Given the description of an element on the screen output the (x, y) to click on. 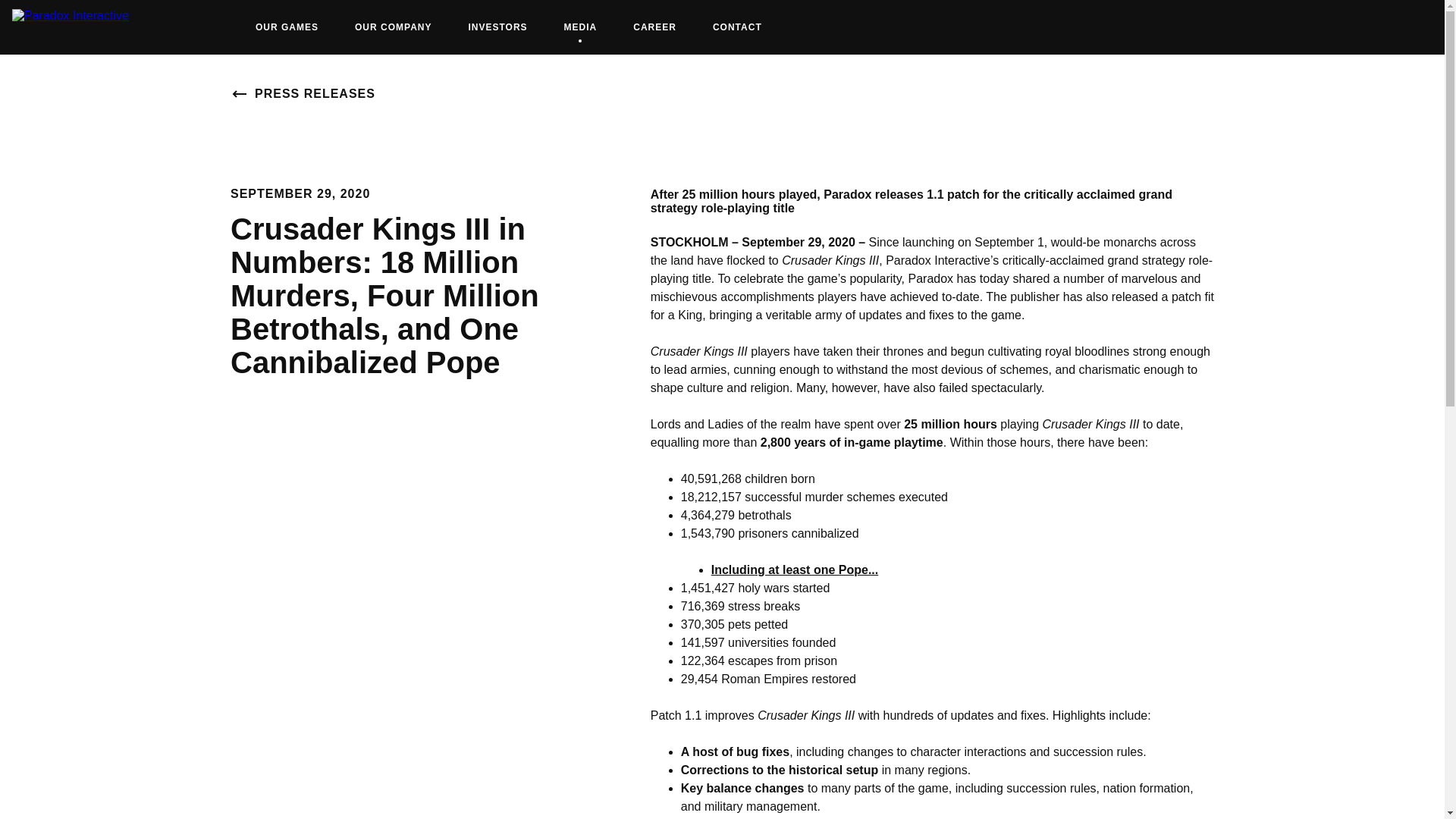
OUR COMPANY (392, 27)
OUR GAMES (580, 27)
CONTACT (286, 27)
CAREER (737, 27)
Including at least one Pope... (654, 27)
INVESTORS (794, 569)
PRESS RELEASES (496, 27)
